Given the description of an element on the screen output the (x, y) to click on. 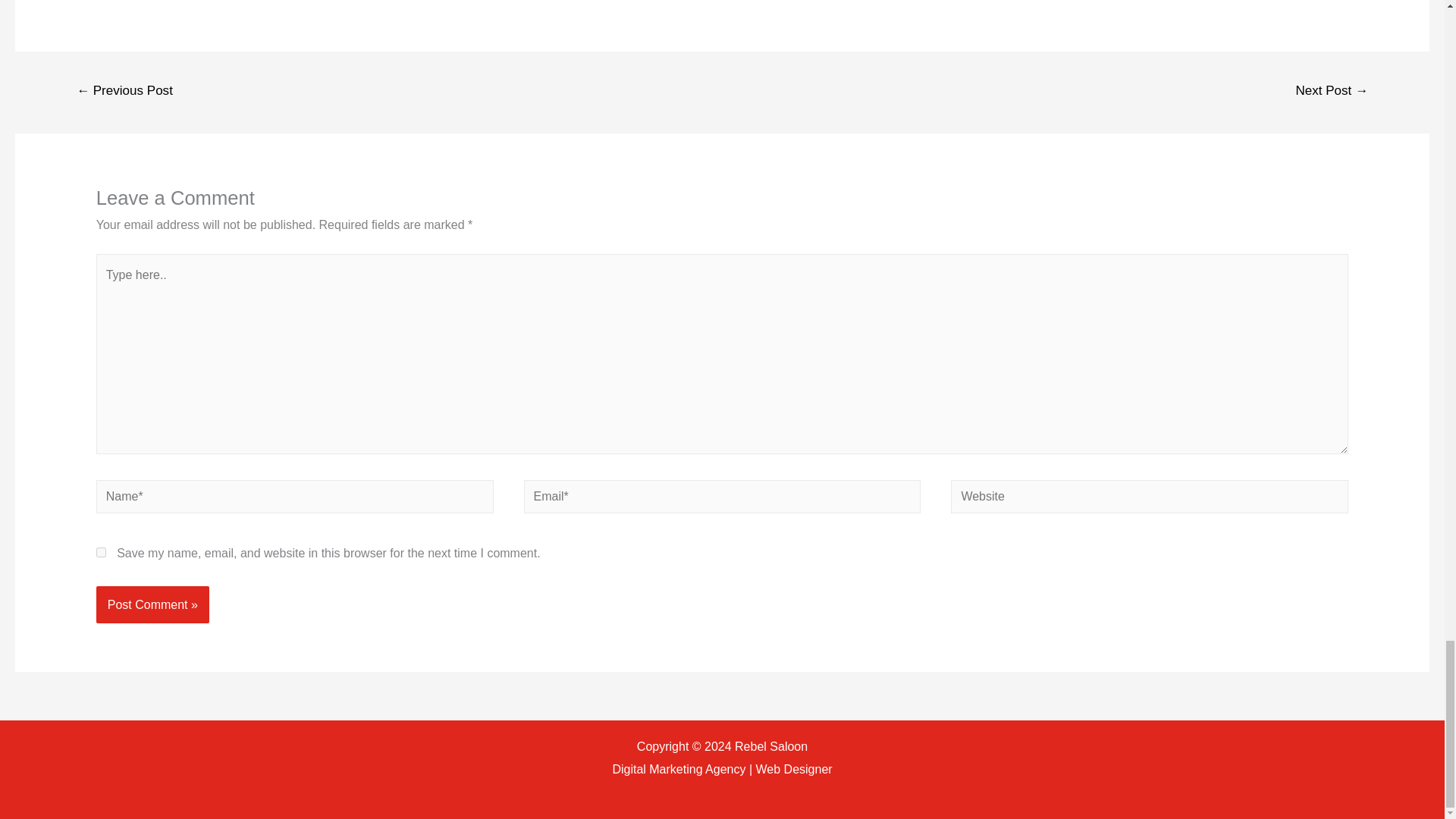
yes (101, 552)
Web Designer (793, 768)
Digital Marketing Agency (678, 768)
